Given the description of an element on the screen output the (x, y) to click on. 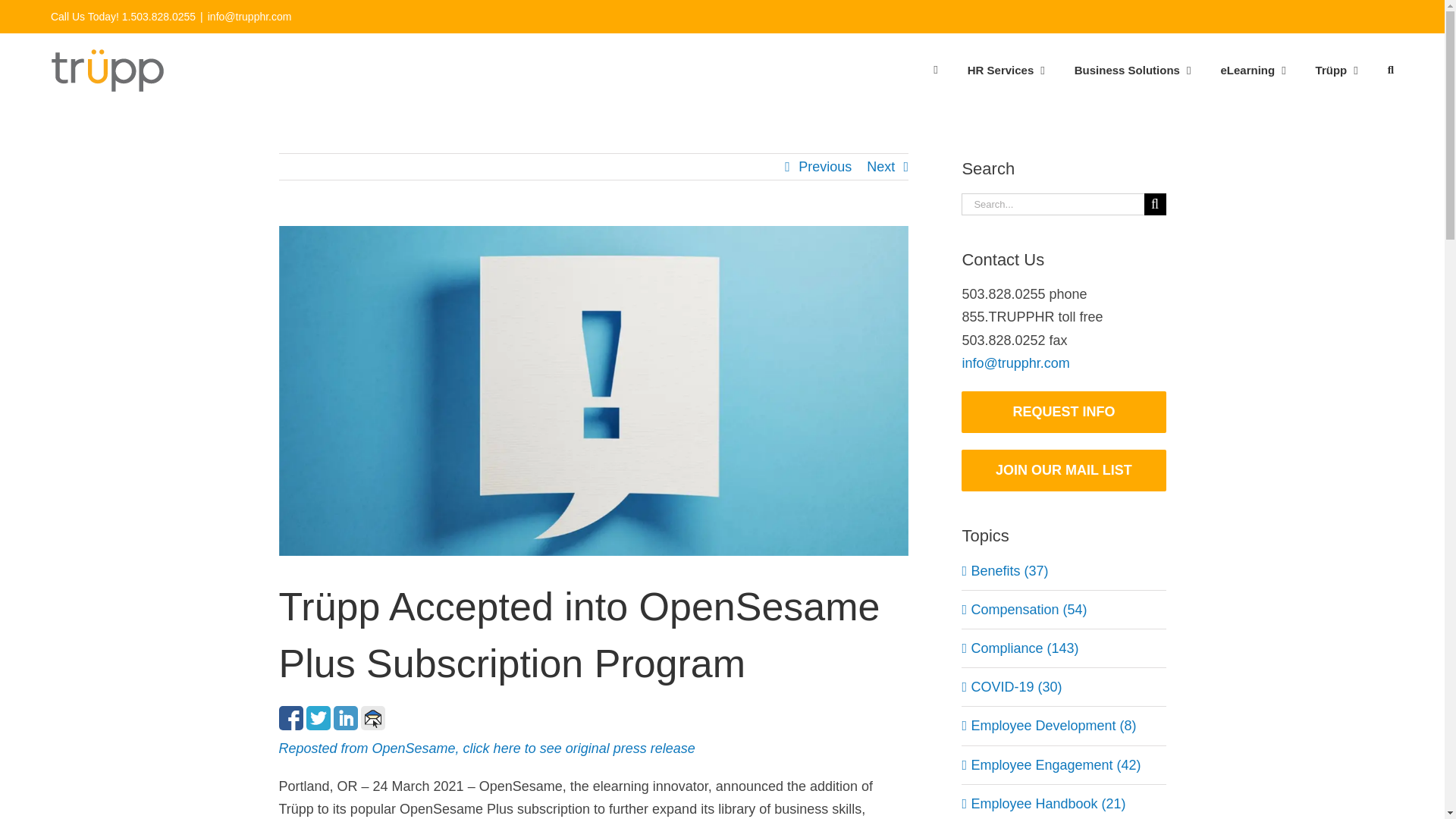
Business Solutions (1132, 69)
HR Services (1006, 69)
eLearning (1252, 69)
